Given the description of an element on the screen output the (x, y) to click on. 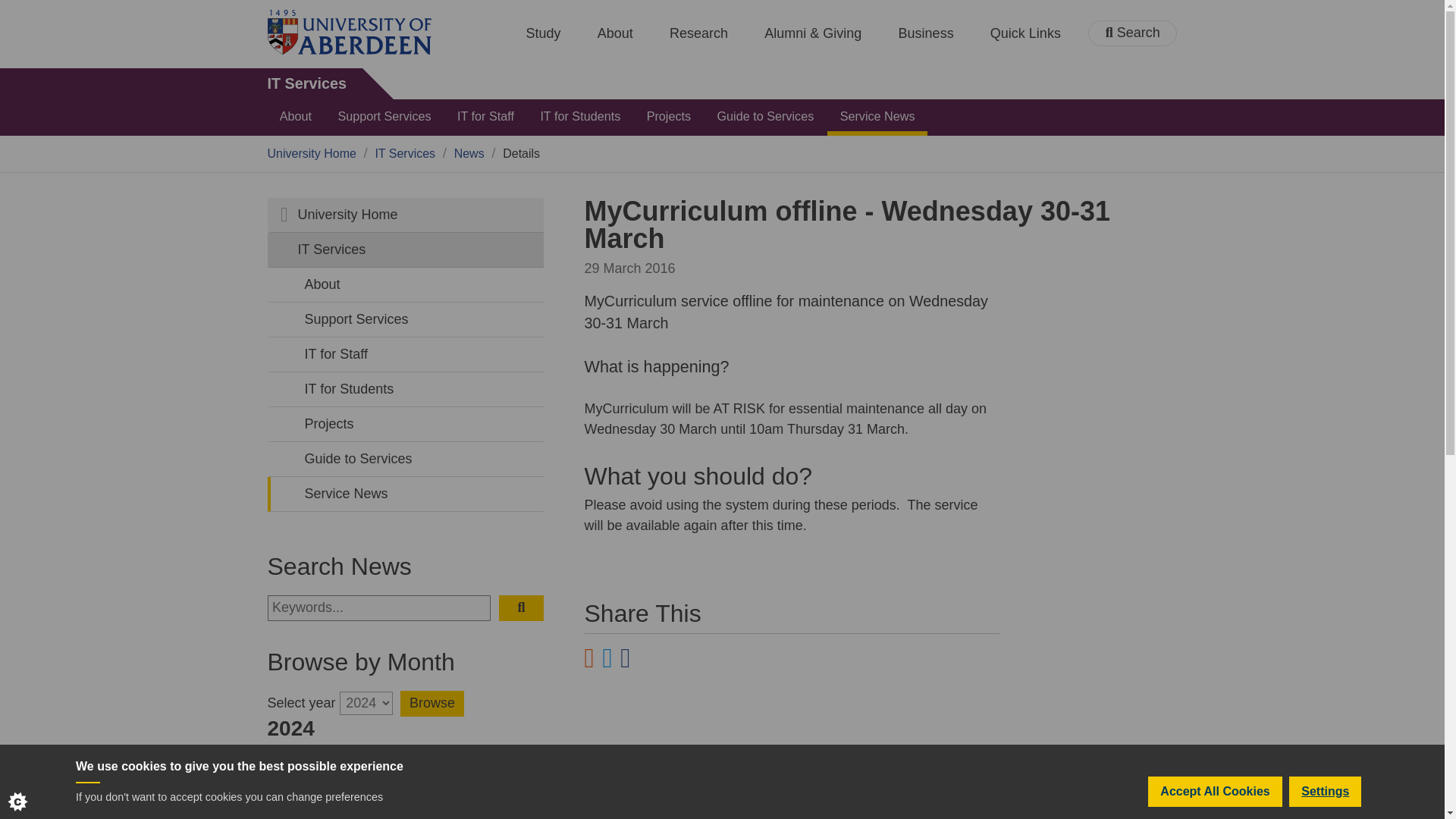
View items for May 2024 (404, 807)
View items for April 2024 (311, 807)
View items for June 2024 (498, 807)
Study (542, 33)
About (614, 33)
View items for March 2024 (498, 770)
View items for January 2024 (311, 770)
View items for February 2024 (404, 770)
